Given the description of an element on the screen output the (x, y) to click on. 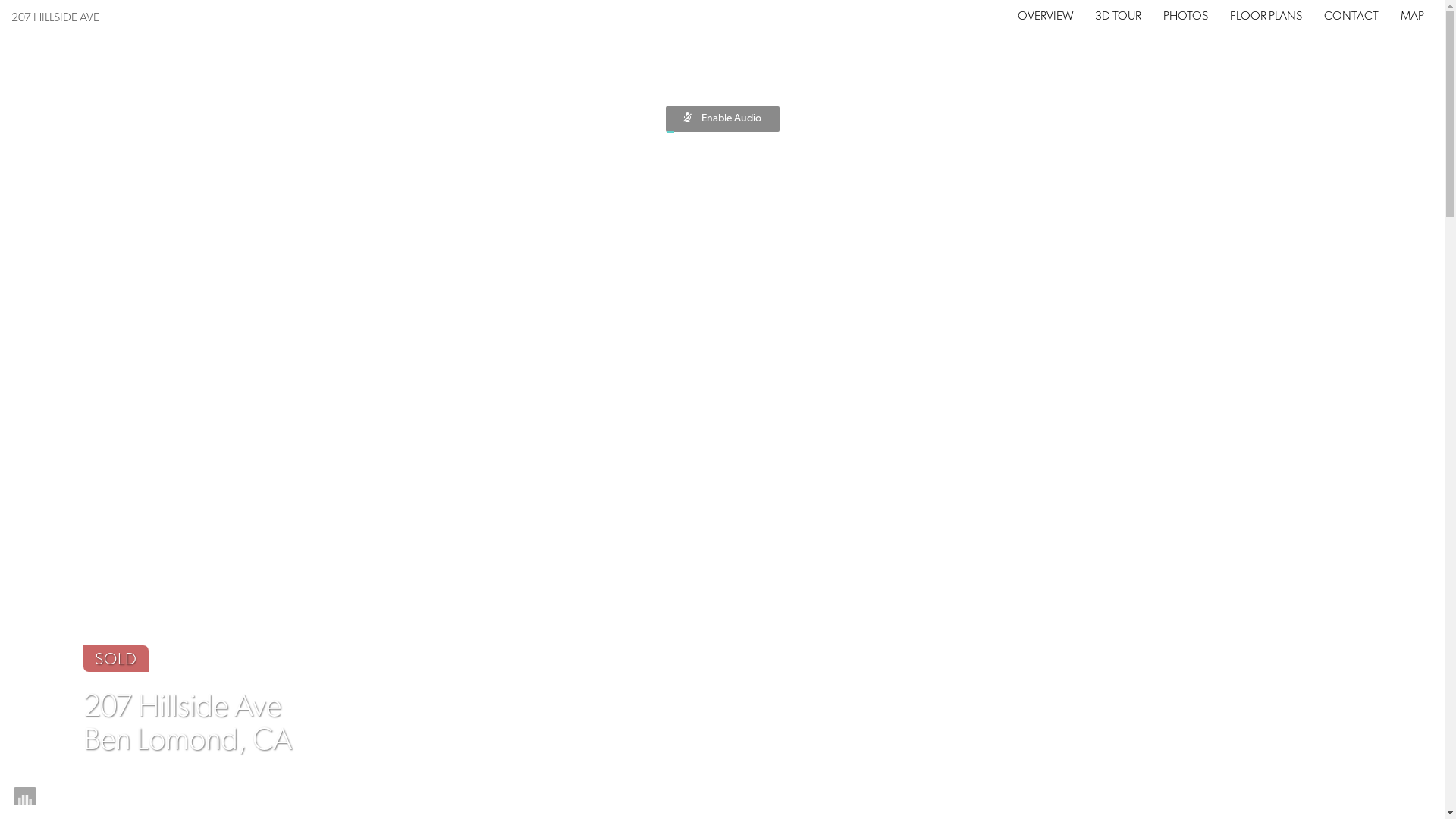
PHOTOS Element type: text (1185, 16)
3D TOUR Element type: text (1118, 16)
CONTACT Element type: text (1351, 16)
MAP Element type: text (1412, 16)
OVERVIEW Element type: text (1045, 16)
FLOOR PLANS Element type: text (1266, 16)
